Given the description of an element on the screen output the (x, y) to click on. 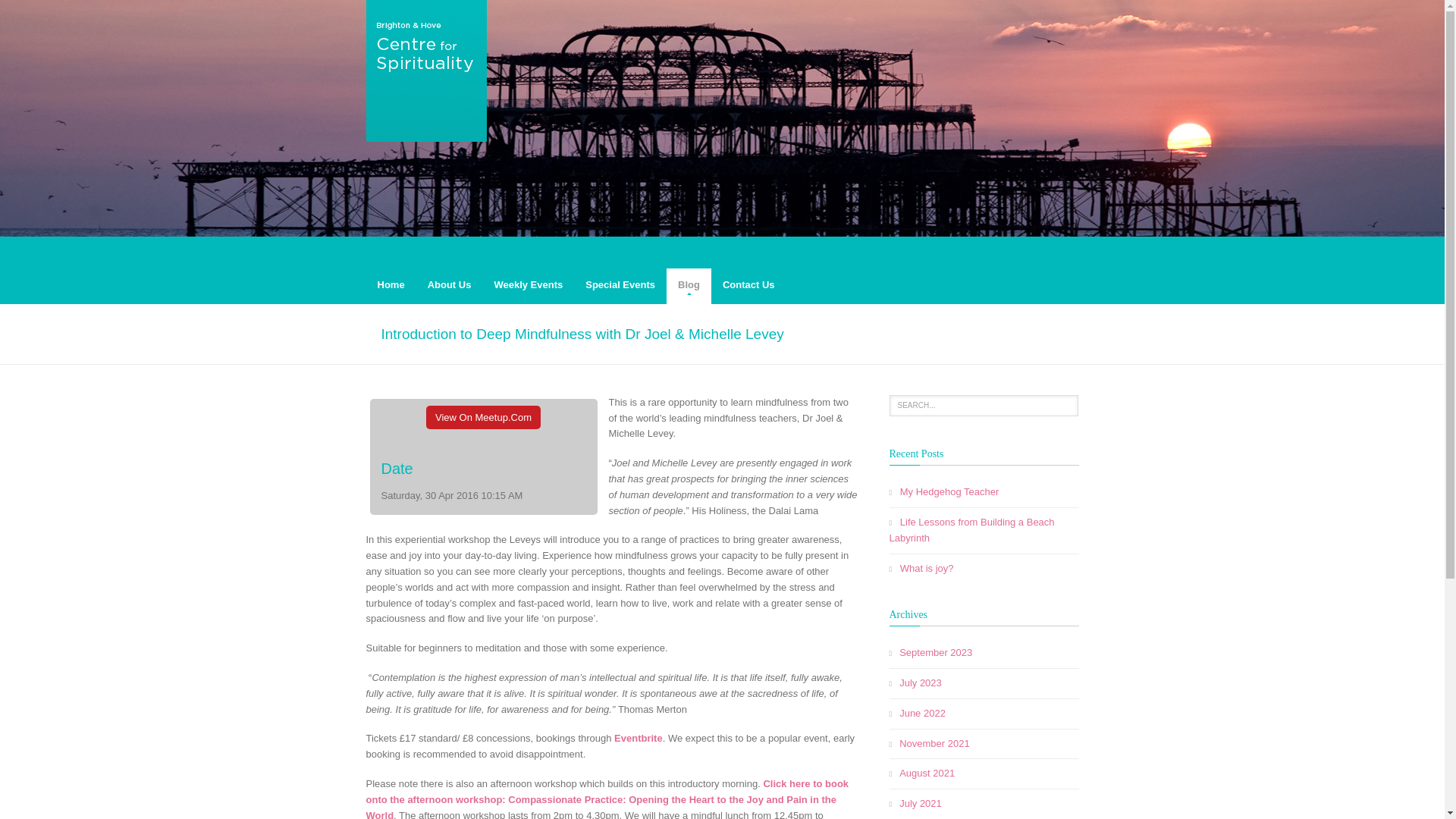
Blog (689, 279)
November 2021 (934, 743)
September 2023 (935, 652)
Eventbrite (638, 737)
Weekly Events (527, 279)
August 2021 (927, 772)
Home (390, 279)
Contact Us (748, 279)
June 2022 (921, 713)
About Us (449, 279)
